Given the description of an element on the screen output the (x, y) to click on. 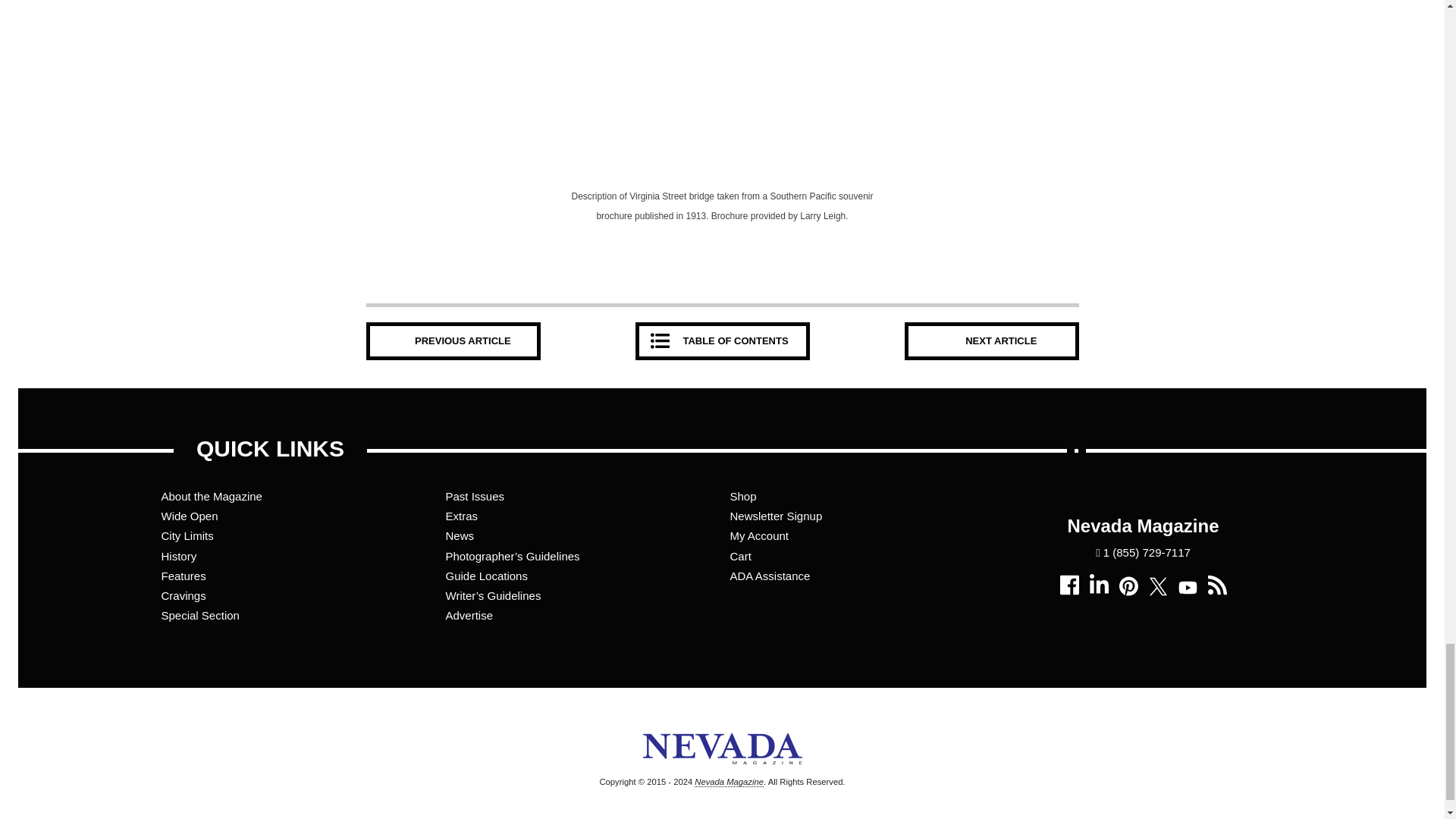
Nevada Magazine (722, 772)
Nevada Magazine (728, 782)
